Given the description of an element on the screen output the (x, y) to click on. 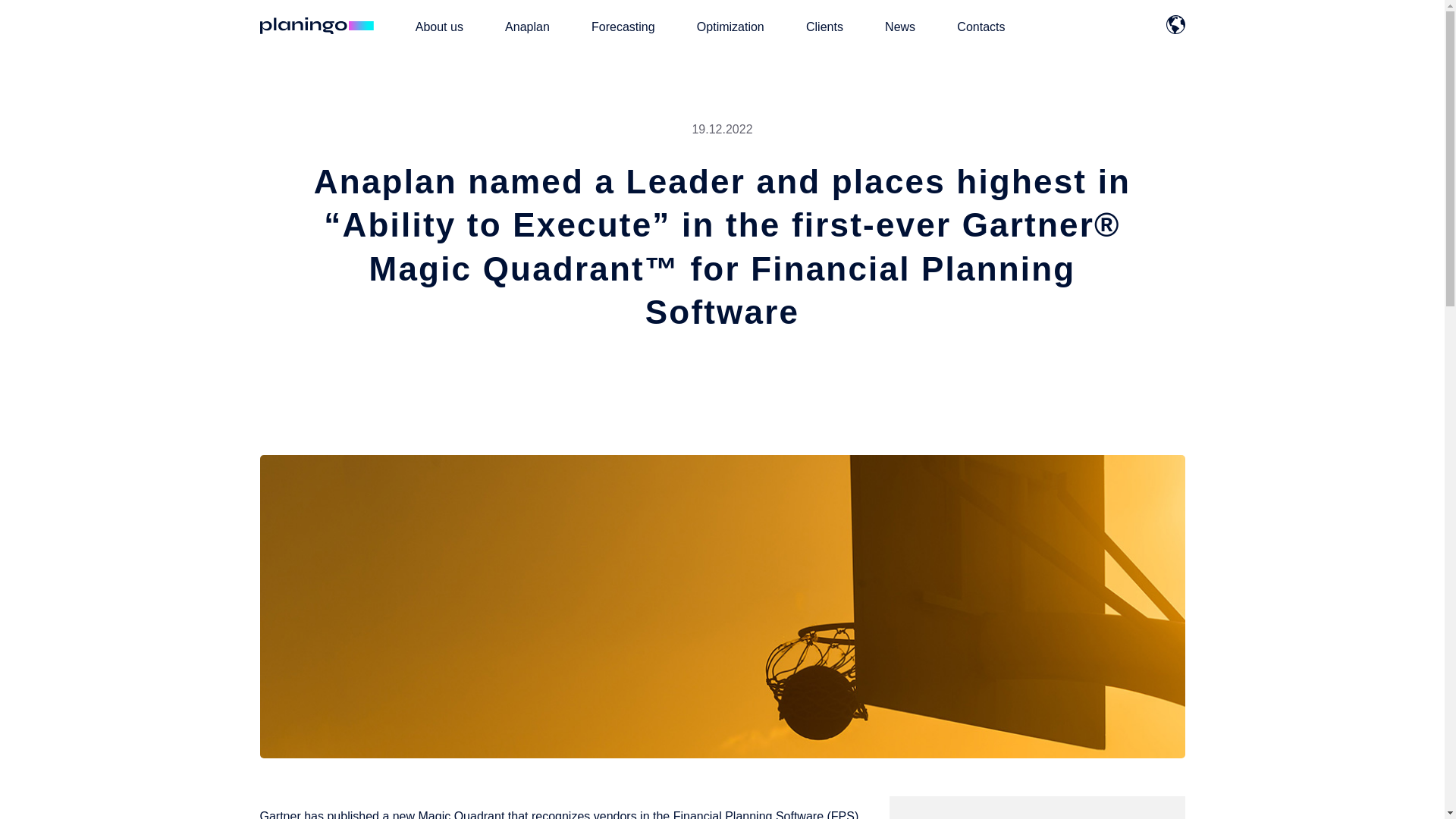
Forecasting (623, 25)
Anaplan (527, 25)
News (900, 25)
About us (438, 25)
Optimization (730, 25)
Clients (824, 25)
Contacts (980, 25)
